Given the description of an element on the screen output the (x, y) to click on. 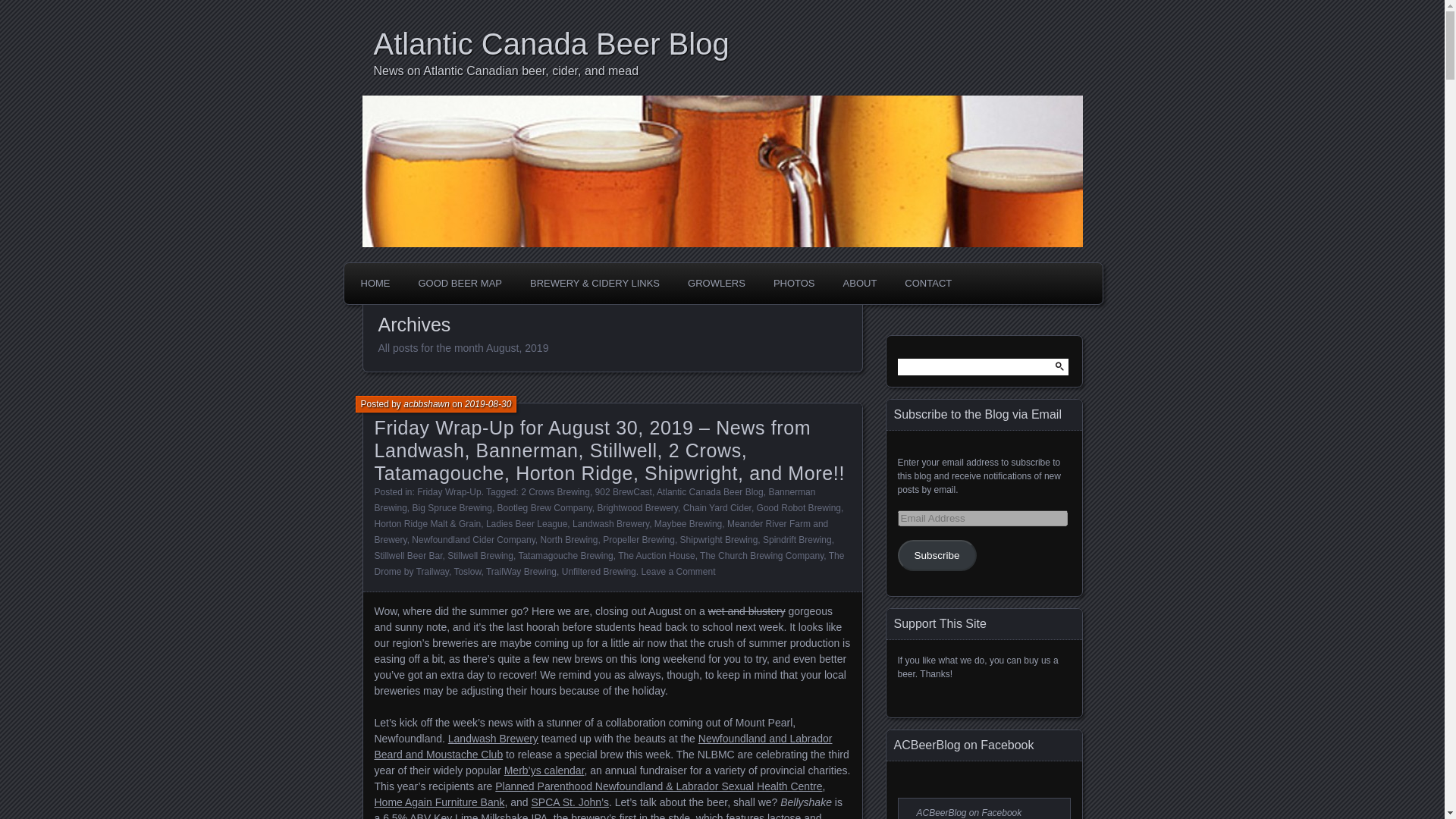
2019-08-30 (487, 403)
CONTACT (927, 283)
Toslow (466, 571)
acbbshawn (426, 403)
The Church Brewing Company (762, 555)
Stillwell Brewing (479, 555)
Good Robot Brewing (799, 507)
Maybee Brewing (687, 523)
North Brewing (569, 539)
GROWLERS (717, 283)
